Given the description of an element on the screen output the (x, y) to click on. 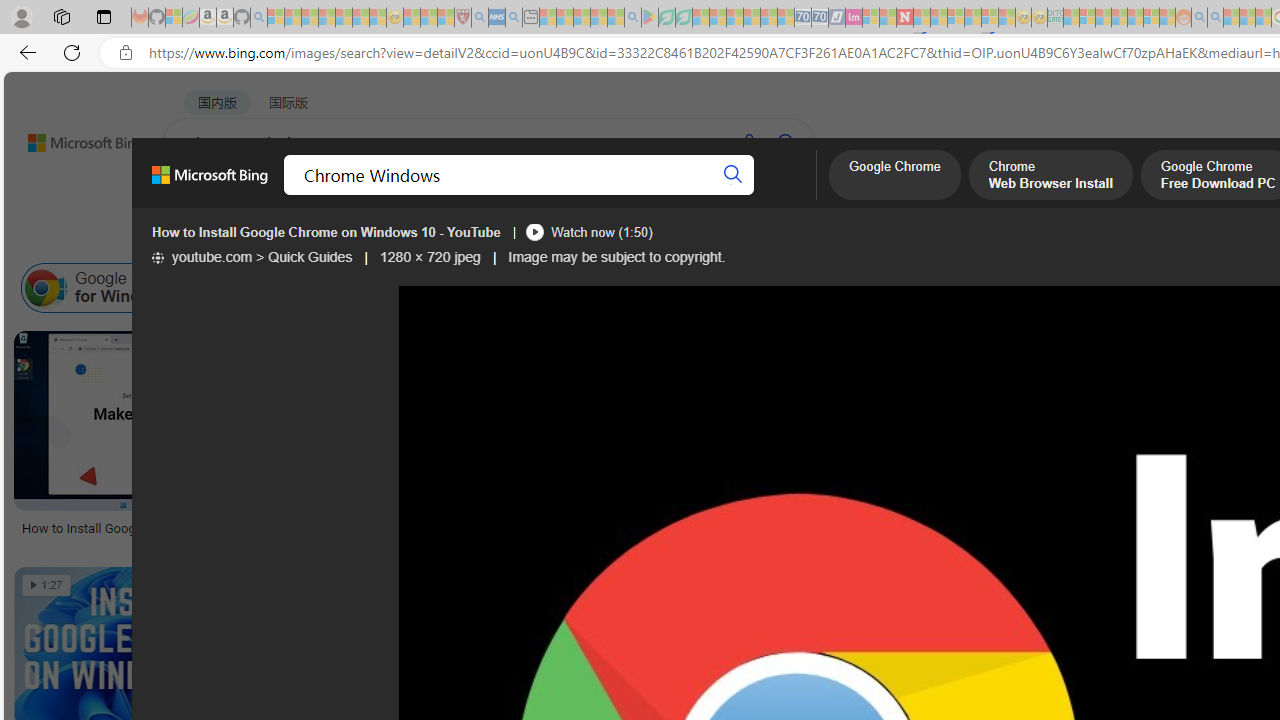
Pets - MSN - Sleeping (598, 17)
Installing Google Chrome (927, 287)
How to Install Google Chrome on Windows 10 (559, 527)
Chrome Windows 1.0 (640, 287)
Layout (443, 237)
14 Common Myths Debunked By Scientific Facts - Sleeping (938, 17)
Image result for Chrome Windows (558, 421)
utah sues federal government - Search - Sleeping (513, 17)
License (664, 237)
Class: b_pri_nav_svg (423, 196)
Type (372, 237)
VIDEOS (545, 195)
